Given the description of an element on the screen output the (x, y) to click on. 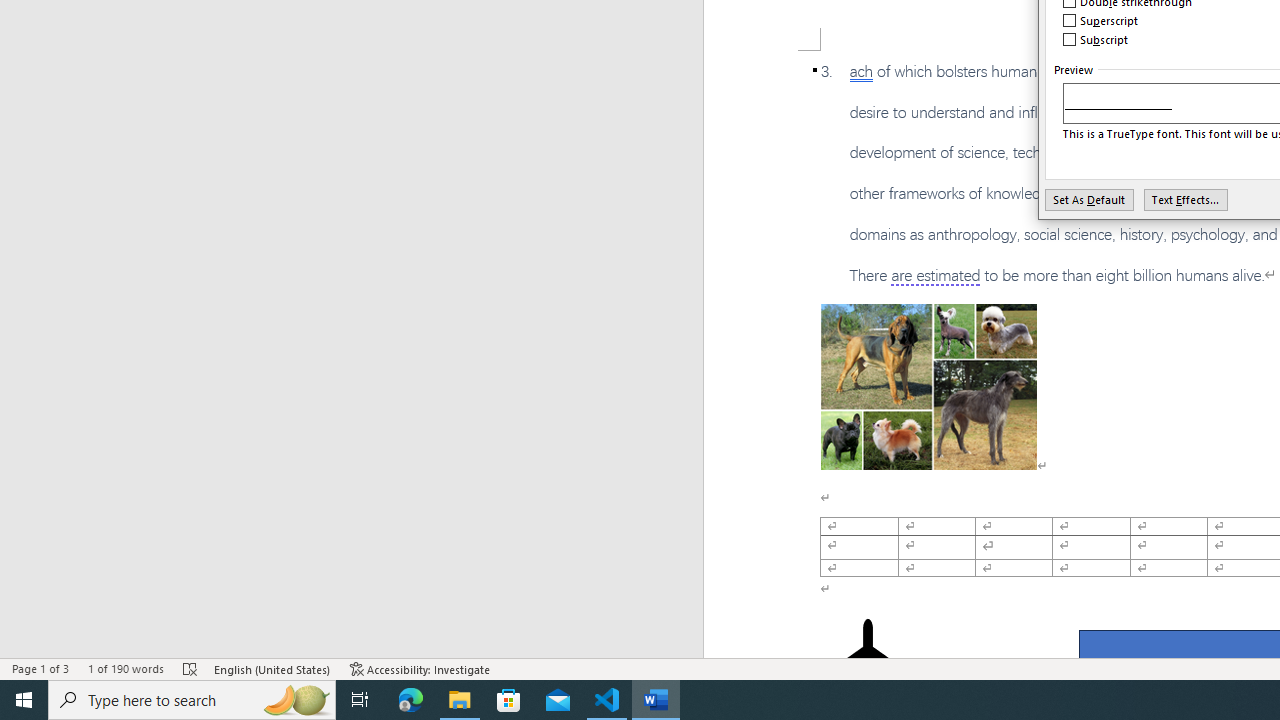
File Explorer - 1 running window (460, 699)
Text Effects... (1185, 199)
Accessibility Checker Accessibility: Investigate (420, 668)
Microsoft Edge (411, 699)
Task View (359, 699)
Word - 1 running window (656, 699)
Microsoft Store (509, 699)
Search highlights icon opens search home window (295, 699)
Page Number Page 1 of 3 (39, 668)
Start (24, 699)
Set As Default (1089, 199)
Subscript (1096, 39)
Visual Studio Code - 1 running window (607, 699)
